Given the description of an element on the screen output the (x, y) to click on. 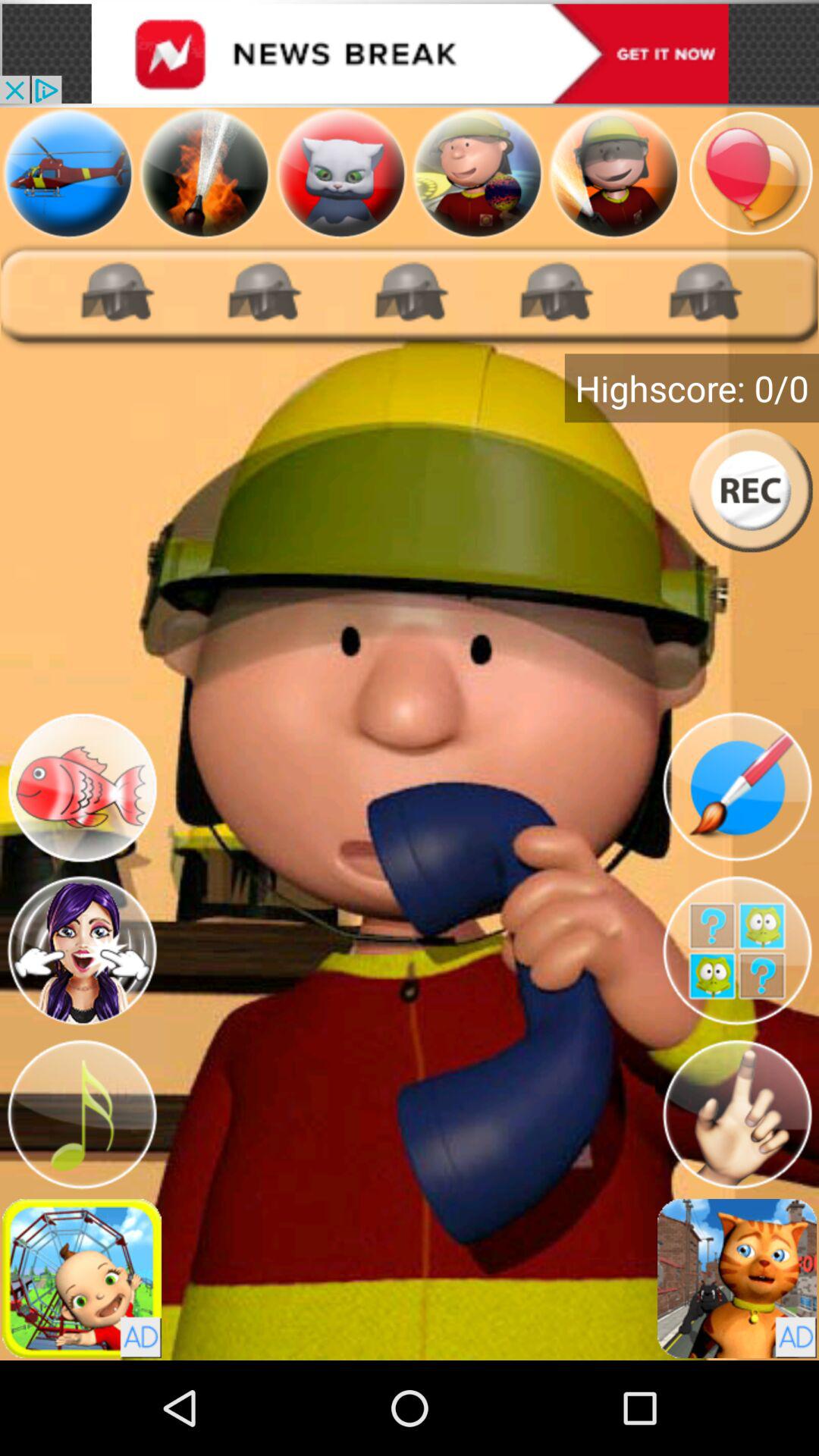
choose music (81, 1114)
